Given the description of an element on the screen output the (x, y) to click on. 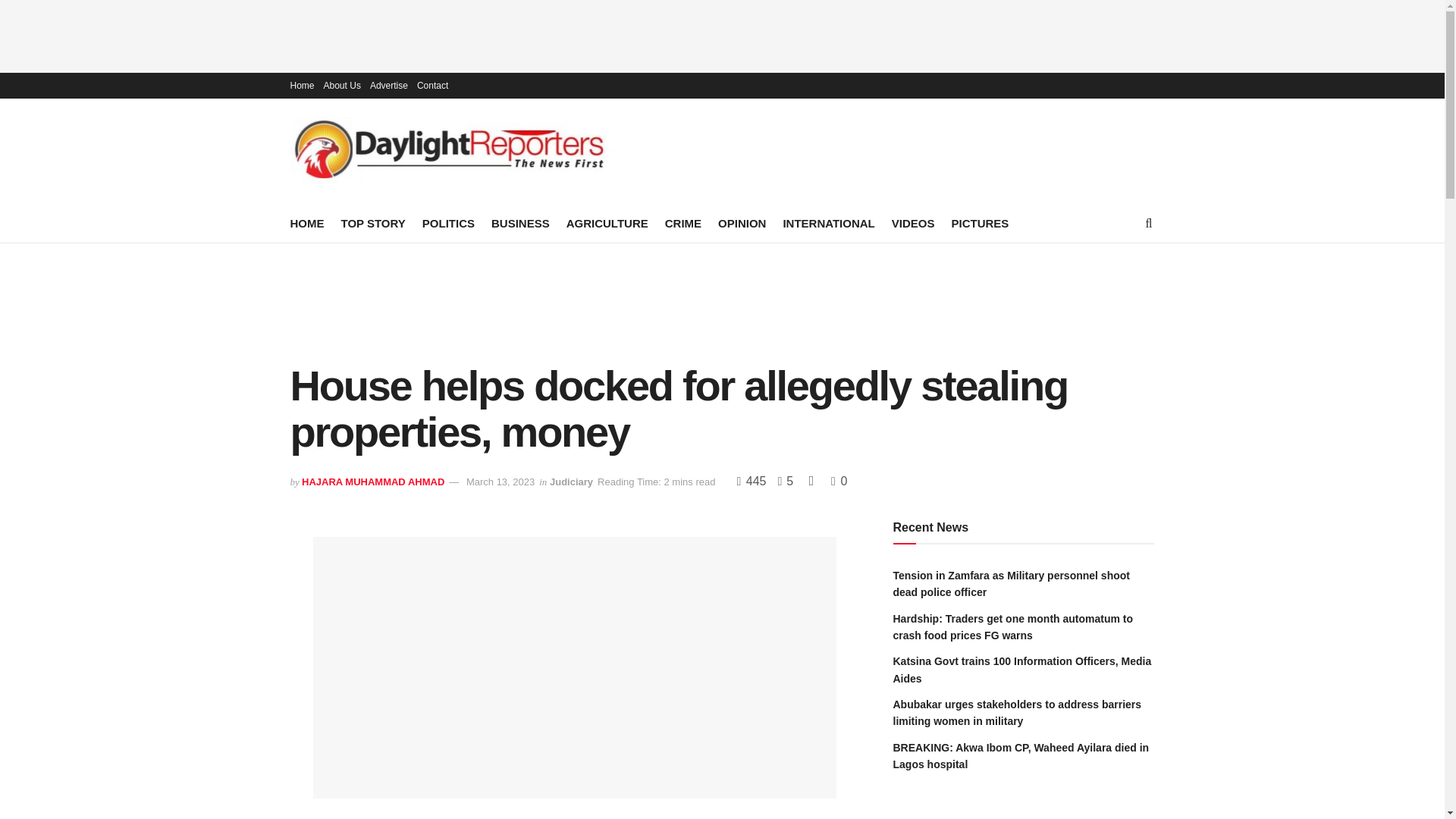
About Us (342, 85)
Advertise (388, 85)
OPINION (741, 223)
INTERNATIONAL (829, 223)
0 (839, 481)
HOME (306, 223)
BUSINESS (521, 223)
AGRICULTURE (606, 223)
PICTURES (979, 223)
Advertisement (722, 300)
